Given the description of an element on the screen output the (x, y) to click on. 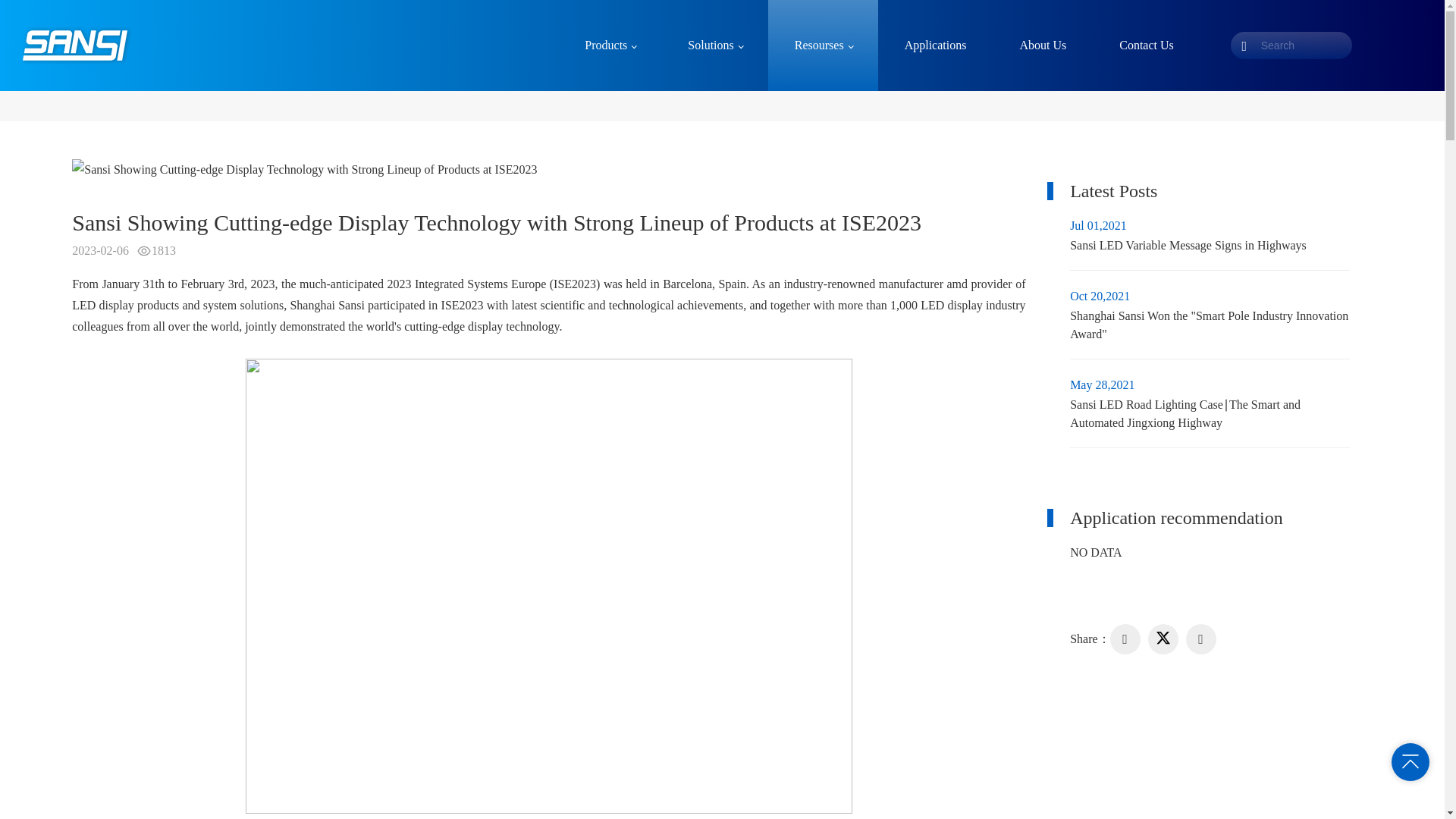
About Us (1042, 45)
Solutions (714, 45)
Resourses (822, 45)
Applications (934, 45)
Contact Us (1209, 243)
